Given the description of an element on the screen output the (x, y) to click on. 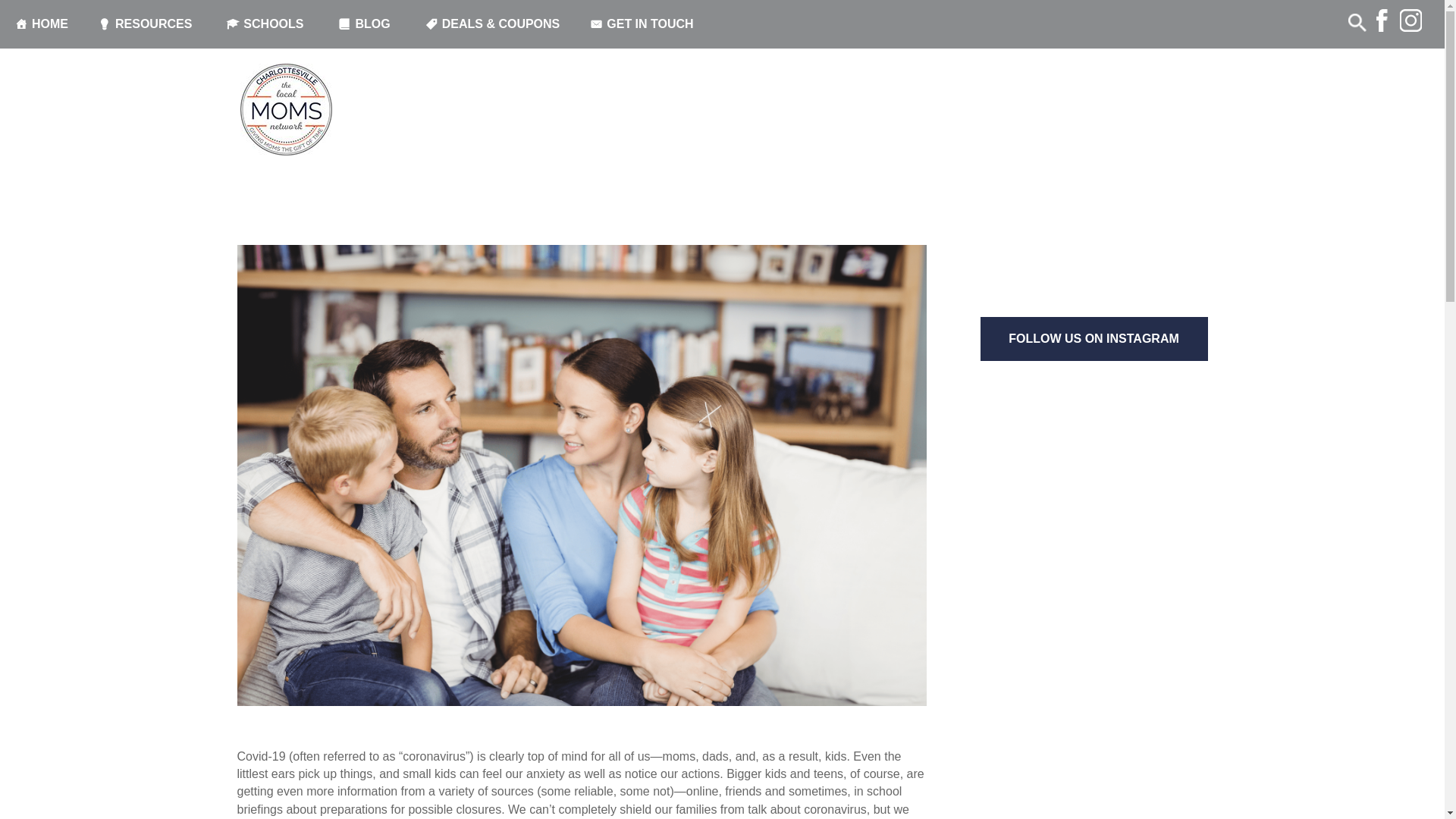
3rd party ad content (1093, 199)
GET IN TOUCH (644, 24)
Around Town (338, 148)
BLOG (366, 24)
RESOURCES (146, 24)
SCHOOLS (267, 24)
Search (34, 13)
HOME (41, 24)
